Given the description of an element on the screen output the (x, y) to click on. 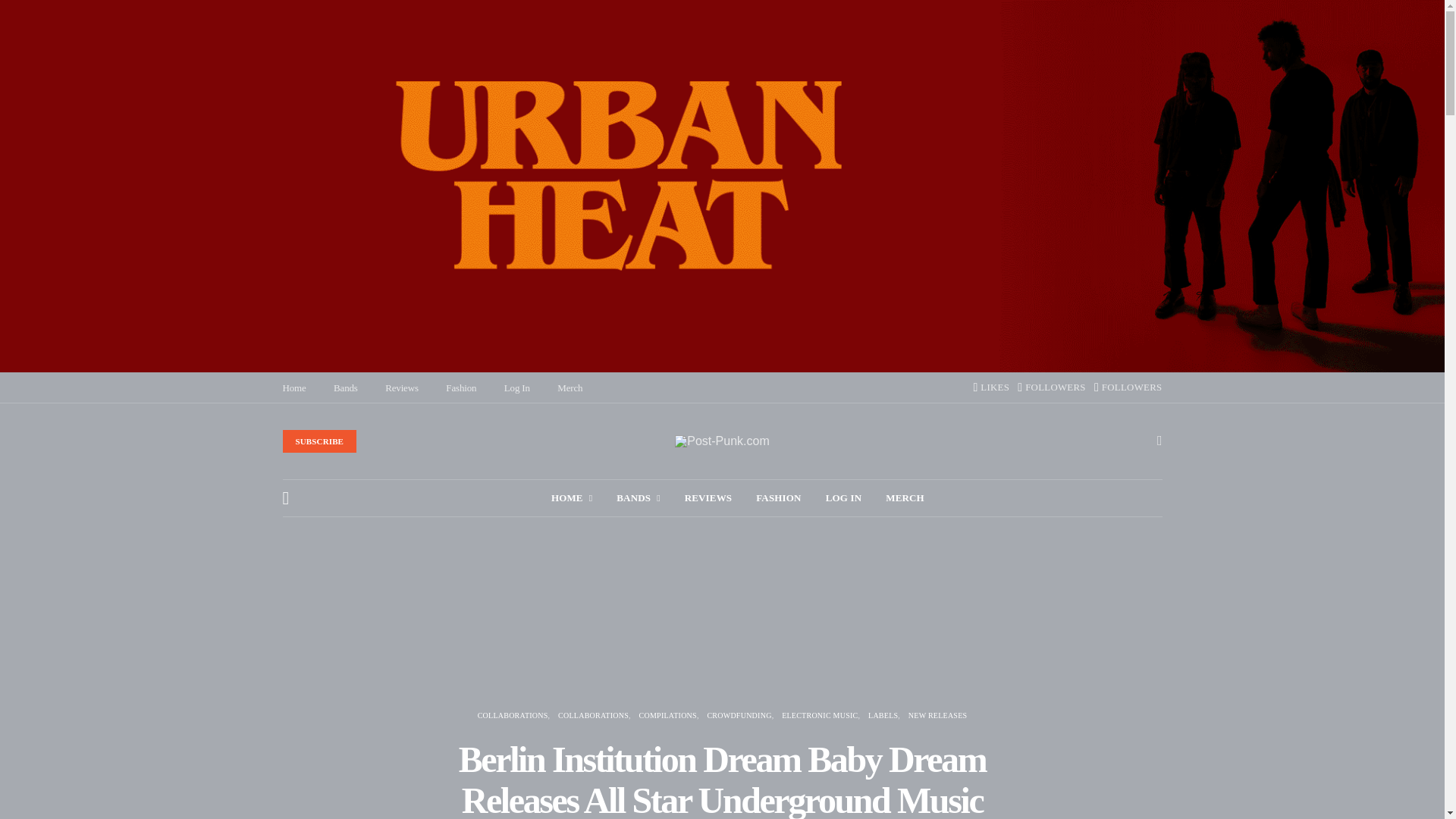
FOLLOWERS (1051, 387)
Reviews (402, 387)
Log In (516, 387)
FOLLOWERS (1127, 387)
Bands (637, 497)
LIKES (990, 387)
Fashion (460, 387)
SUBSCRIBE (319, 441)
REVIEWS (708, 497)
BANDS (637, 497)
